Given the description of an element on the screen output the (x, y) to click on. 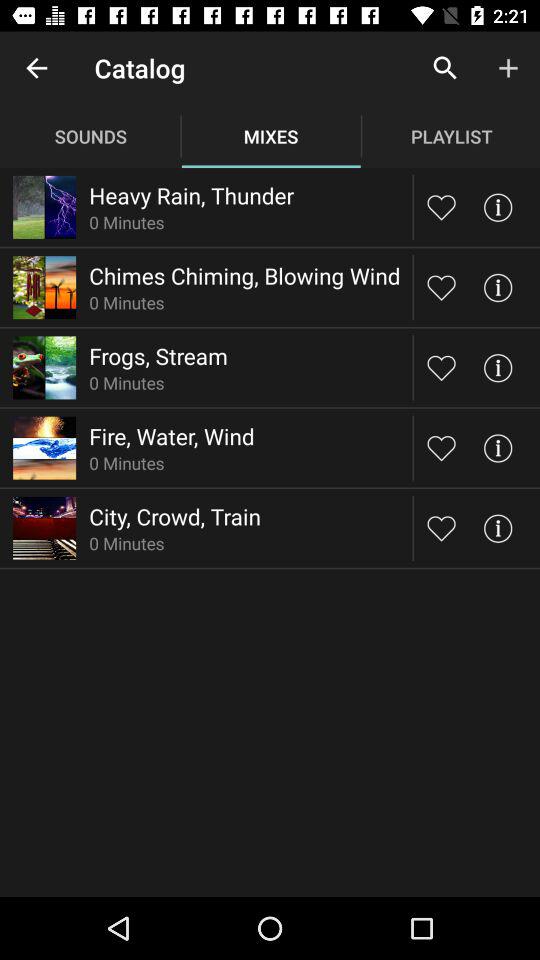
press here if you love this playlist (441, 527)
